Given the description of an element on the screen output the (x, y) to click on. 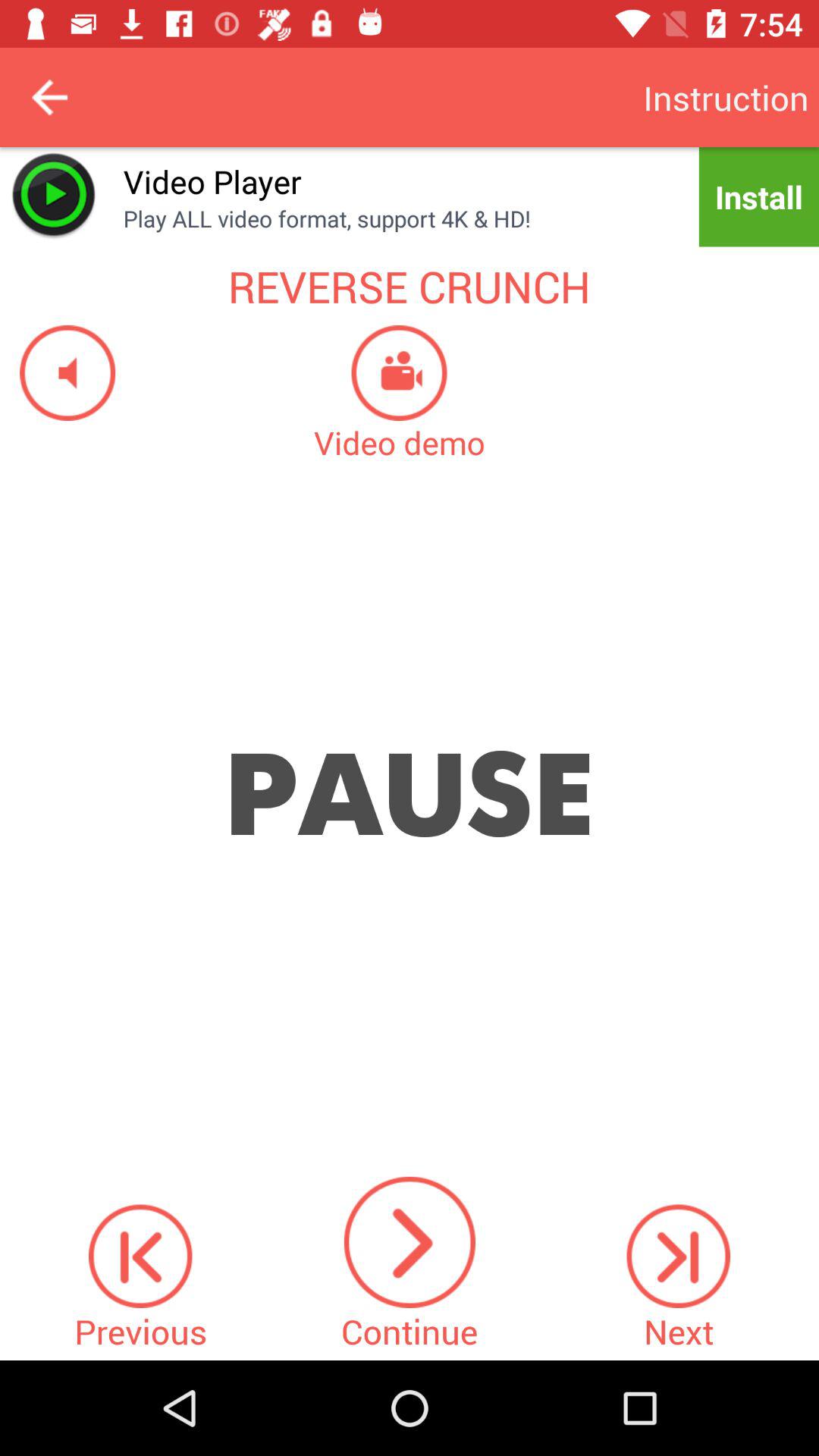
sound on (57, 372)
